Given the description of an element on the screen output the (x, y) to click on. 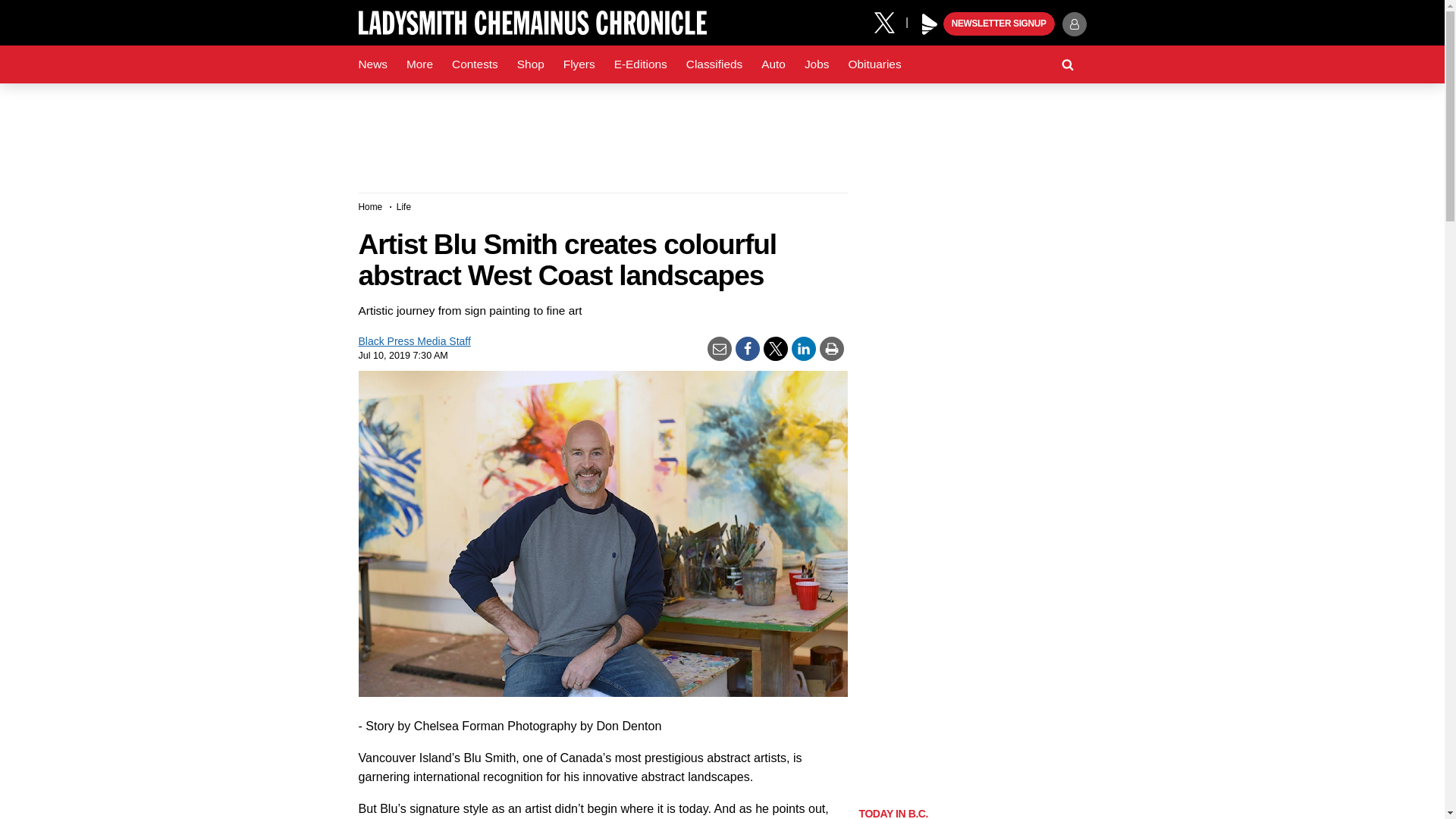
NEWSLETTER SIGNUP (998, 24)
News (372, 64)
Play (929, 24)
Black Press Media (929, 24)
X (889, 21)
